Given the description of an element on the screen output the (x, y) to click on. 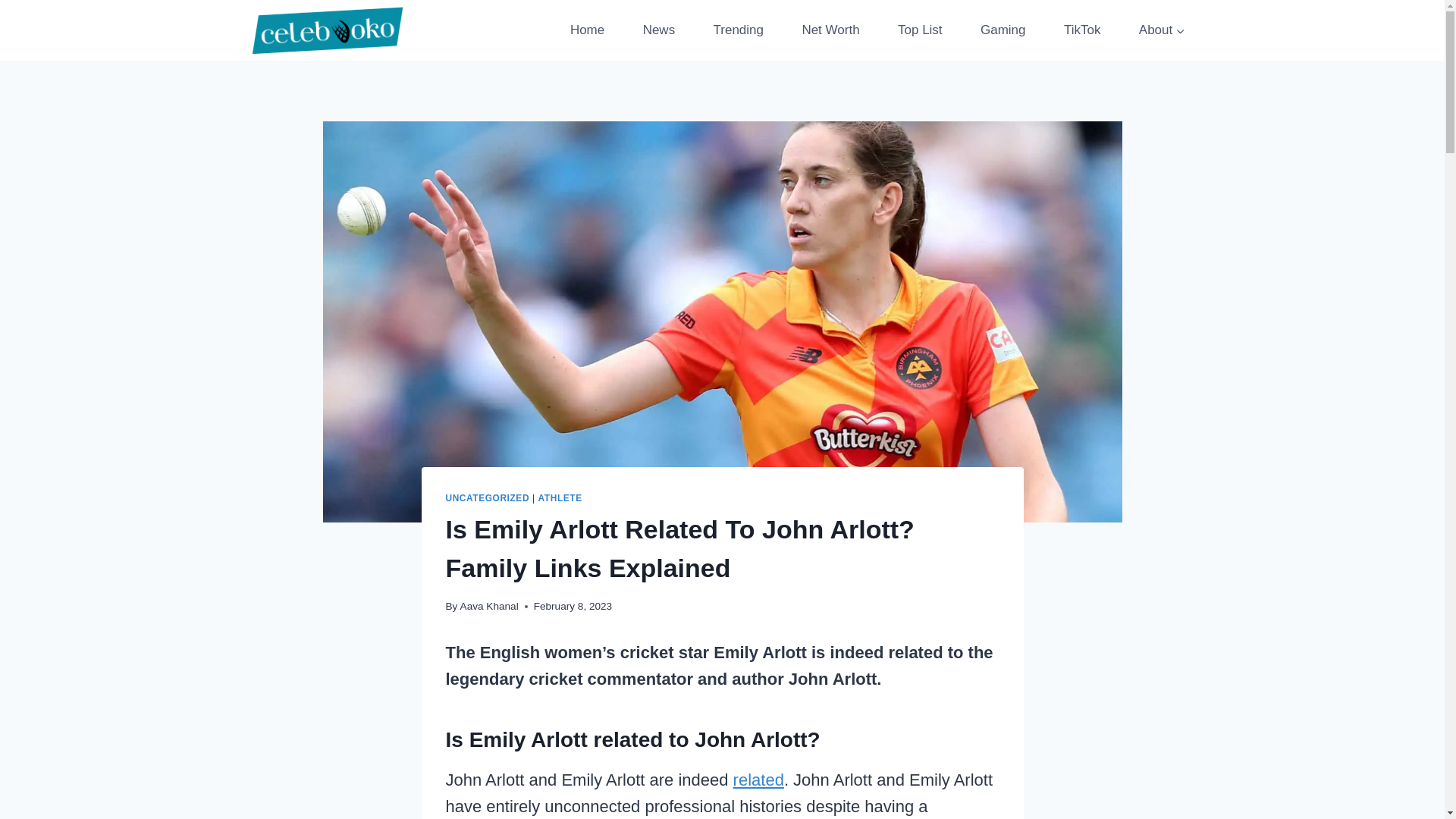
About (1162, 30)
Gaming (1002, 30)
ATHLETE (560, 498)
Top List (919, 30)
Net Worth (830, 30)
Home (587, 30)
related (758, 779)
News (658, 30)
UNCATEGORIZED (487, 498)
Trending (737, 30)
TikTok (1082, 30)
Aava Khanal (489, 605)
